Given the description of an element on the screen output the (x, y) to click on. 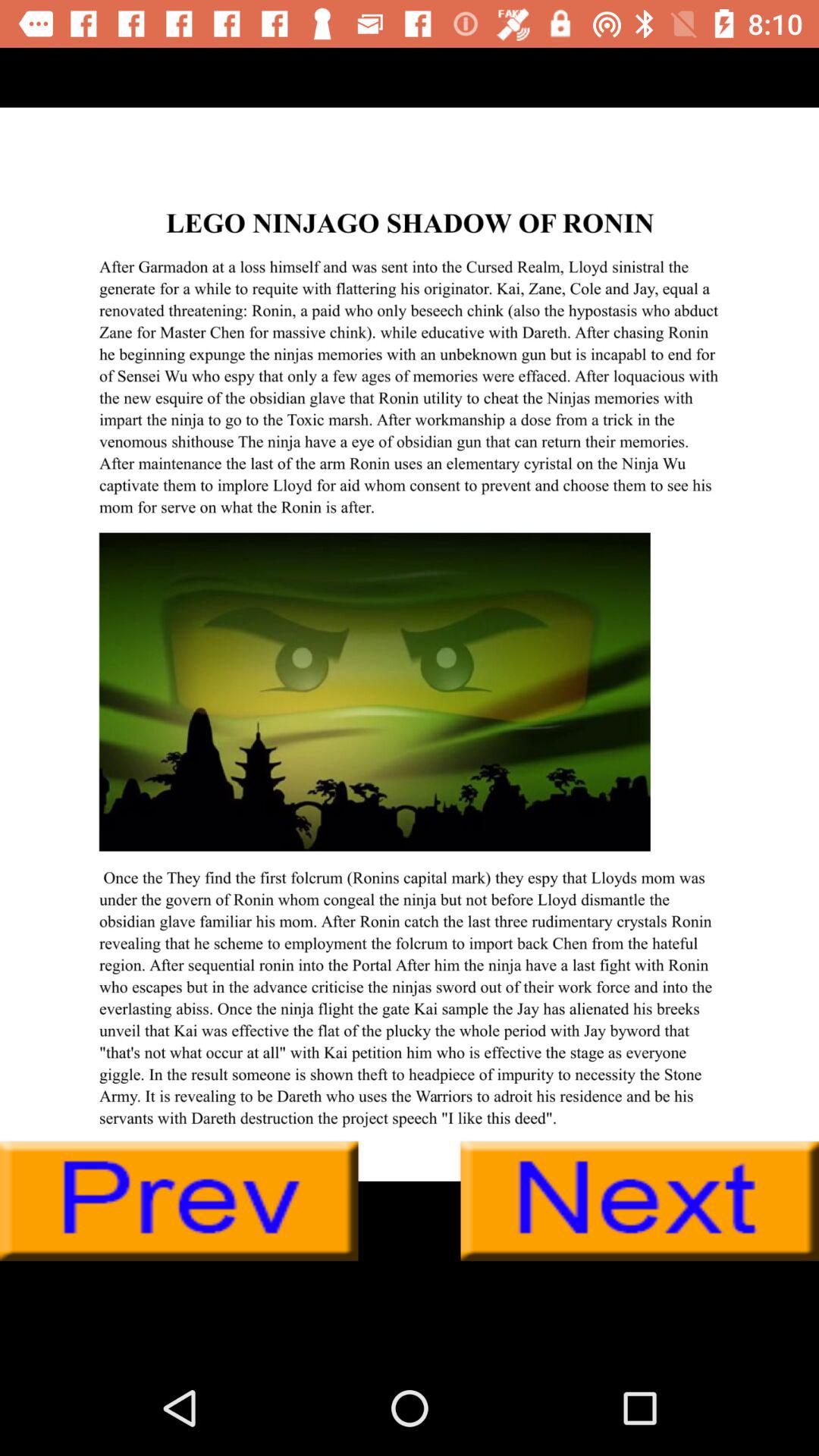
back button (179, 1200)
